Given the description of an element on the screen output the (x, y) to click on. 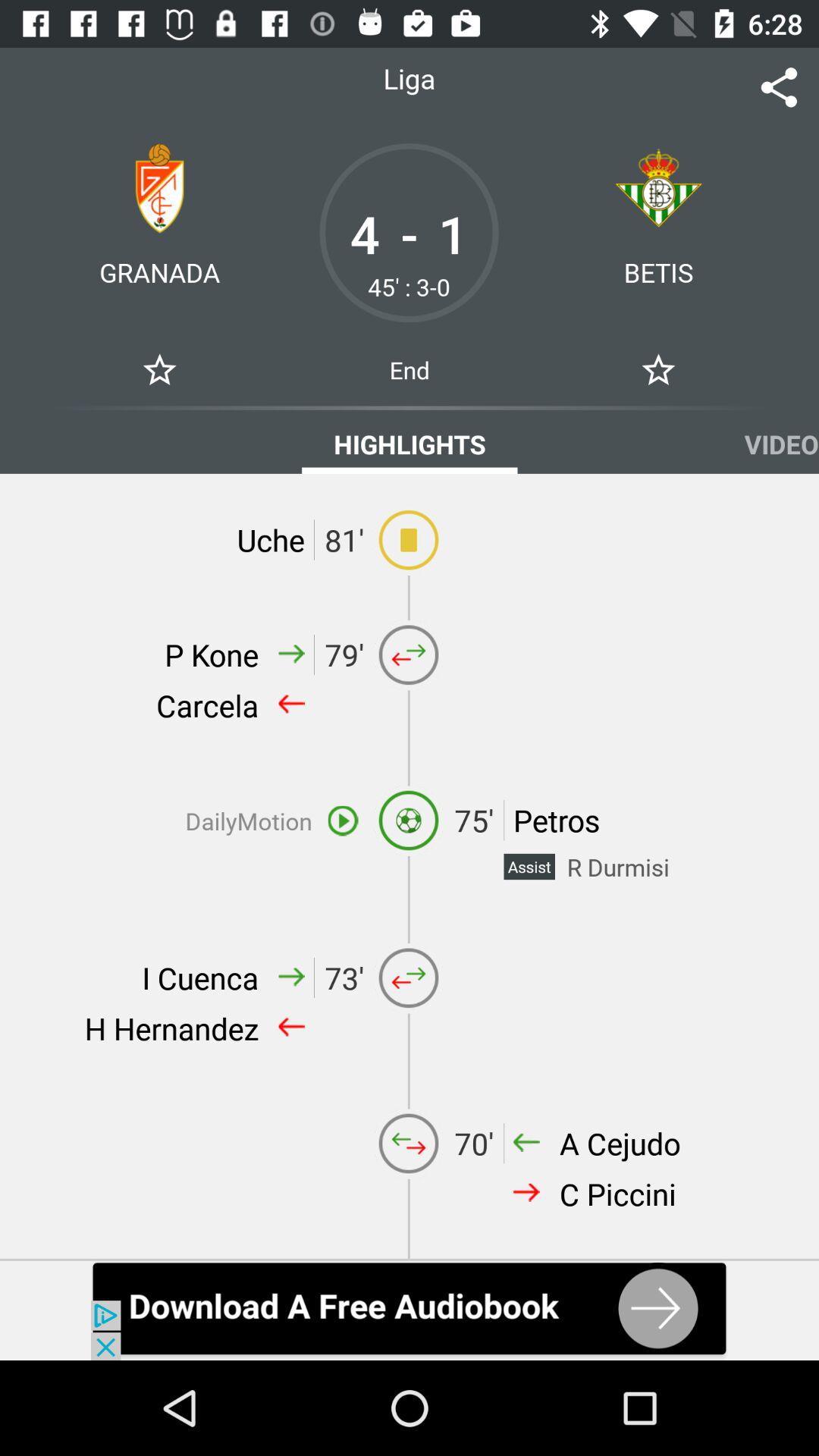
share the picher (779, 87)
